Given the description of an element on the screen output the (x, y) to click on. 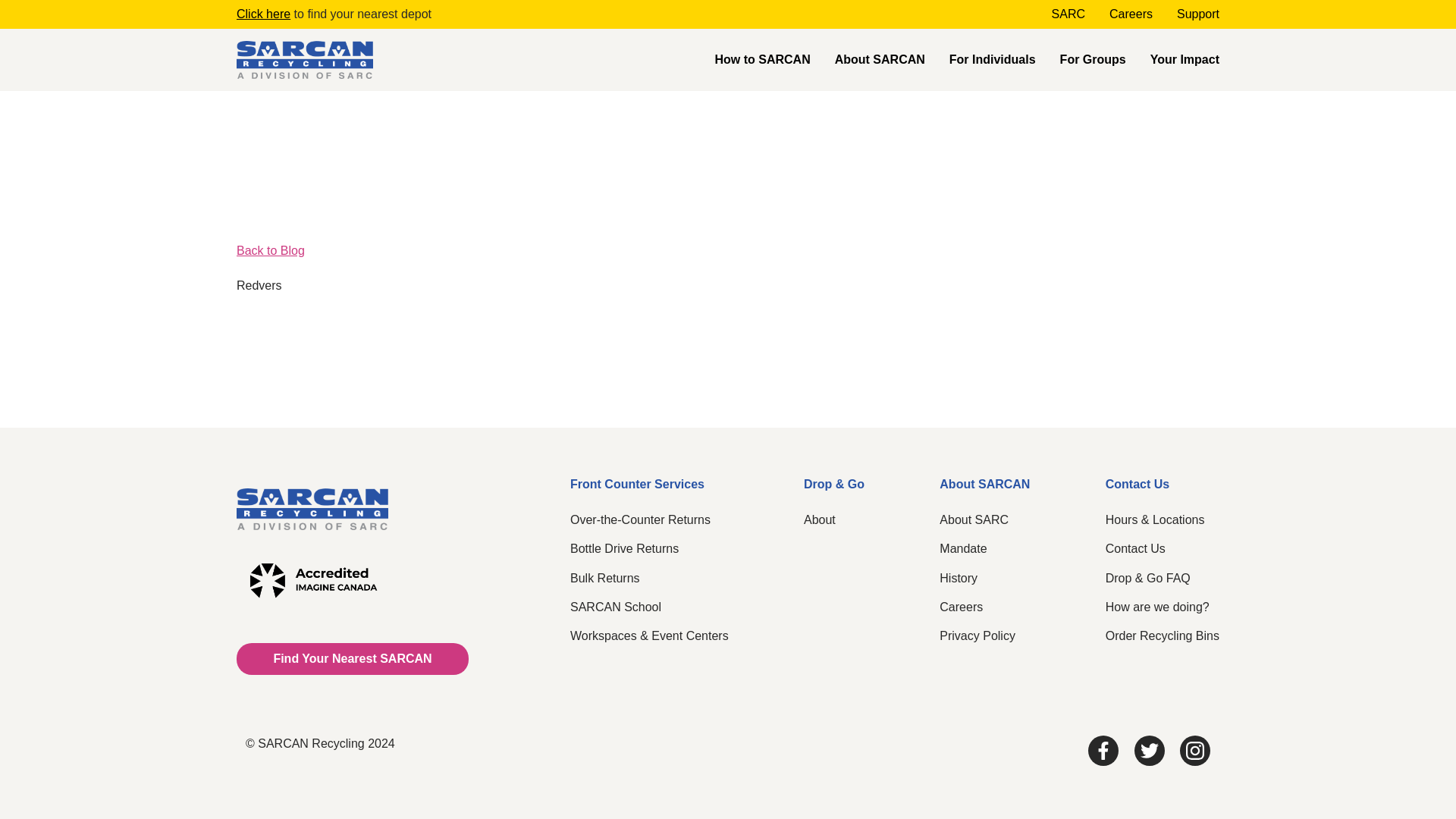
Support (1197, 13)
How to SARCAN (761, 59)
For Groups (1093, 59)
For Individuals (992, 59)
Careers (1130, 13)
Your Impact (1184, 59)
About SARCAN (879, 59)
SARC (1068, 13)
